Given the description of an element on the screen output the (x, y) to click on. 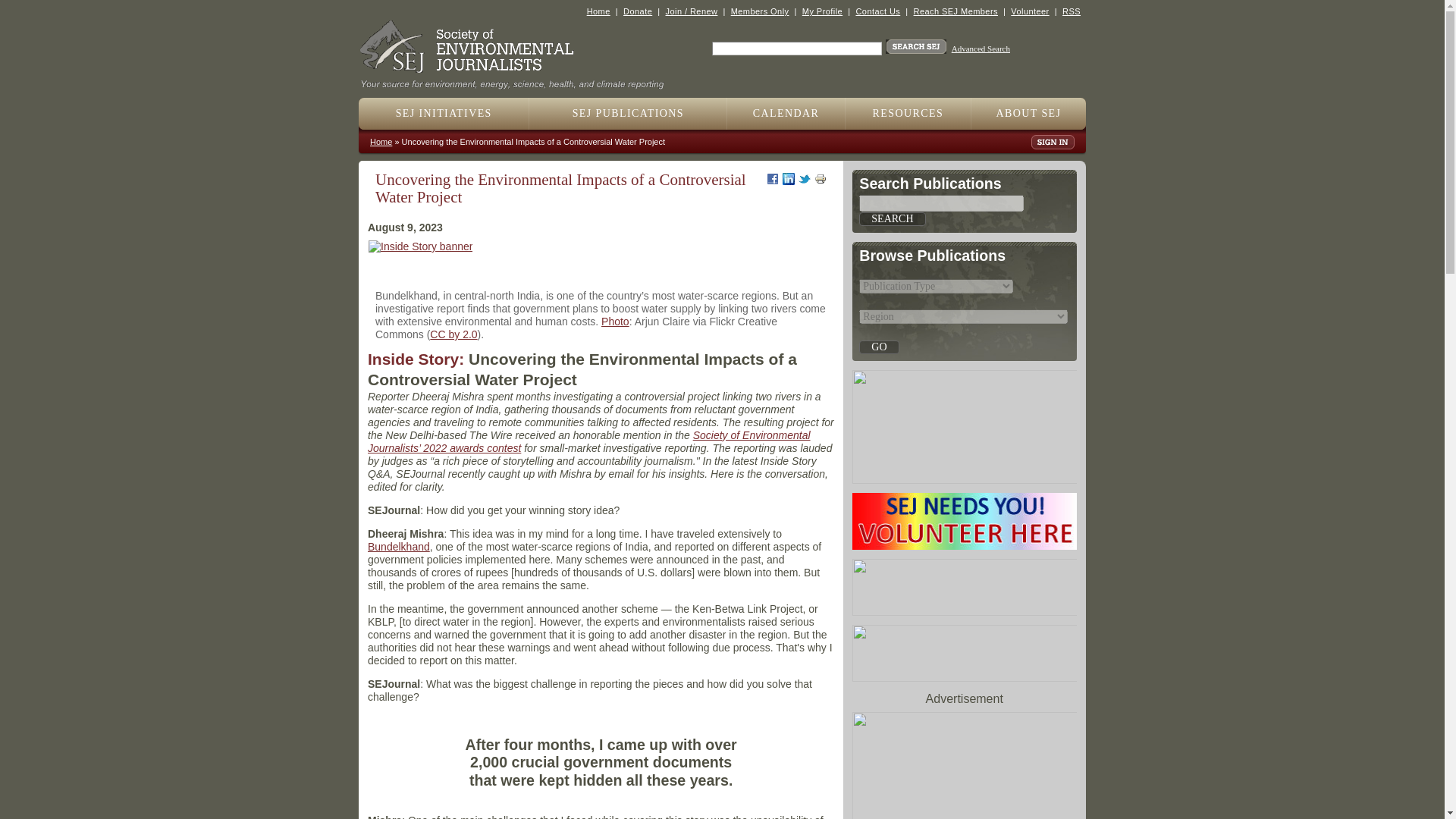
Advanced Search (981, 48)
RSS (1071, 10)
Home (598, 10)
SEJ PUBLICATIONS (627, 113)
Enter the terms you wish to search for. (796, 48)
Home (518, 79)
My Profile (822, 10)
CALENDAR (785, 113)
Contact Us (877, 10)
Reach SEJ Members (955, 10)
